Given the description of an element on the screen output the (x, y) to click on. 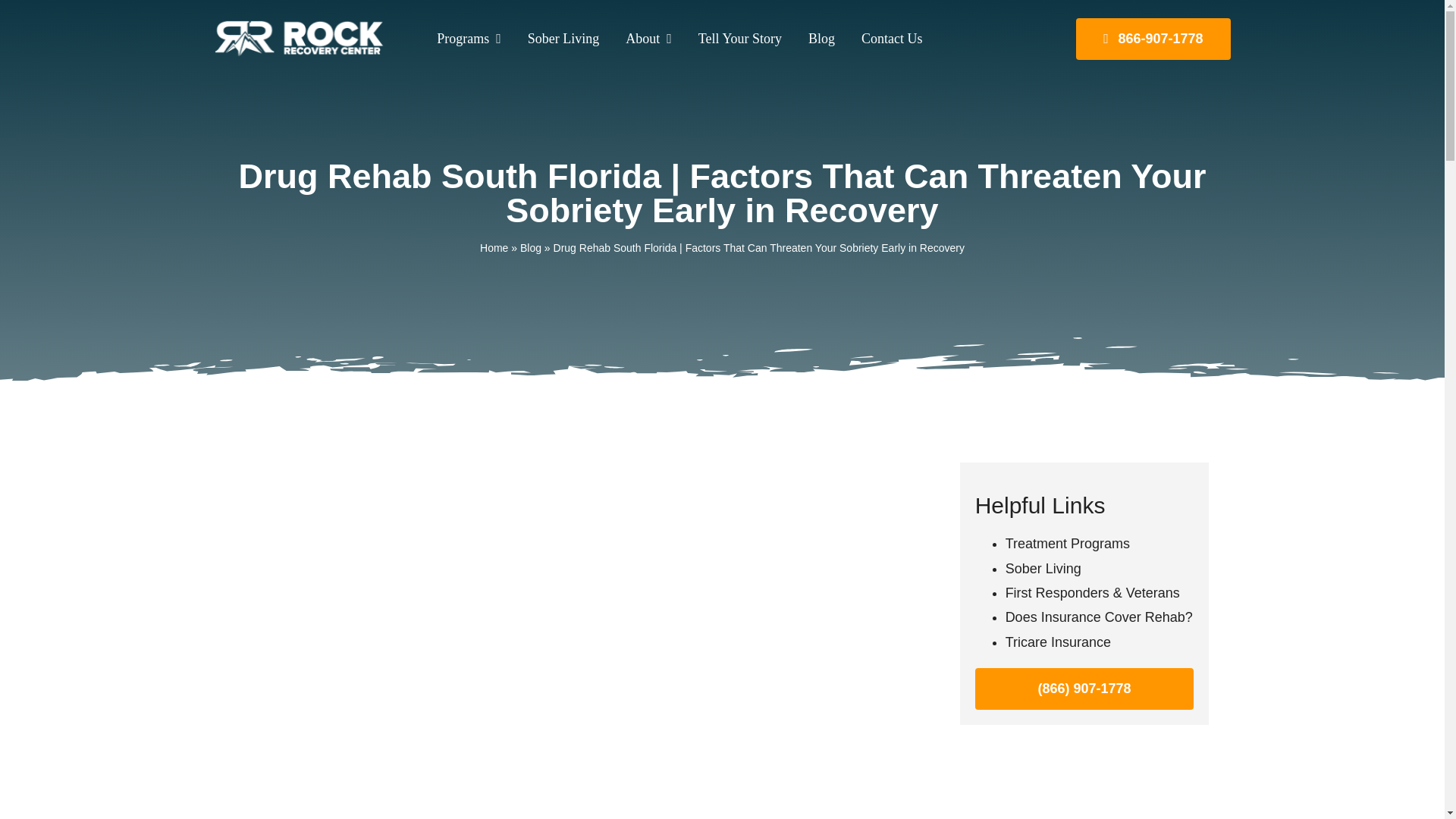
Blog (815, 38)
Programs (462, 38)
Tell Your Story (734, 38)
Contact Us (886, 38)
About (642, 38)
Call Us Today (1152, 38)
Sober Living (557, 38)
